Given the description of an element on the screen output the (x, y) to click on. 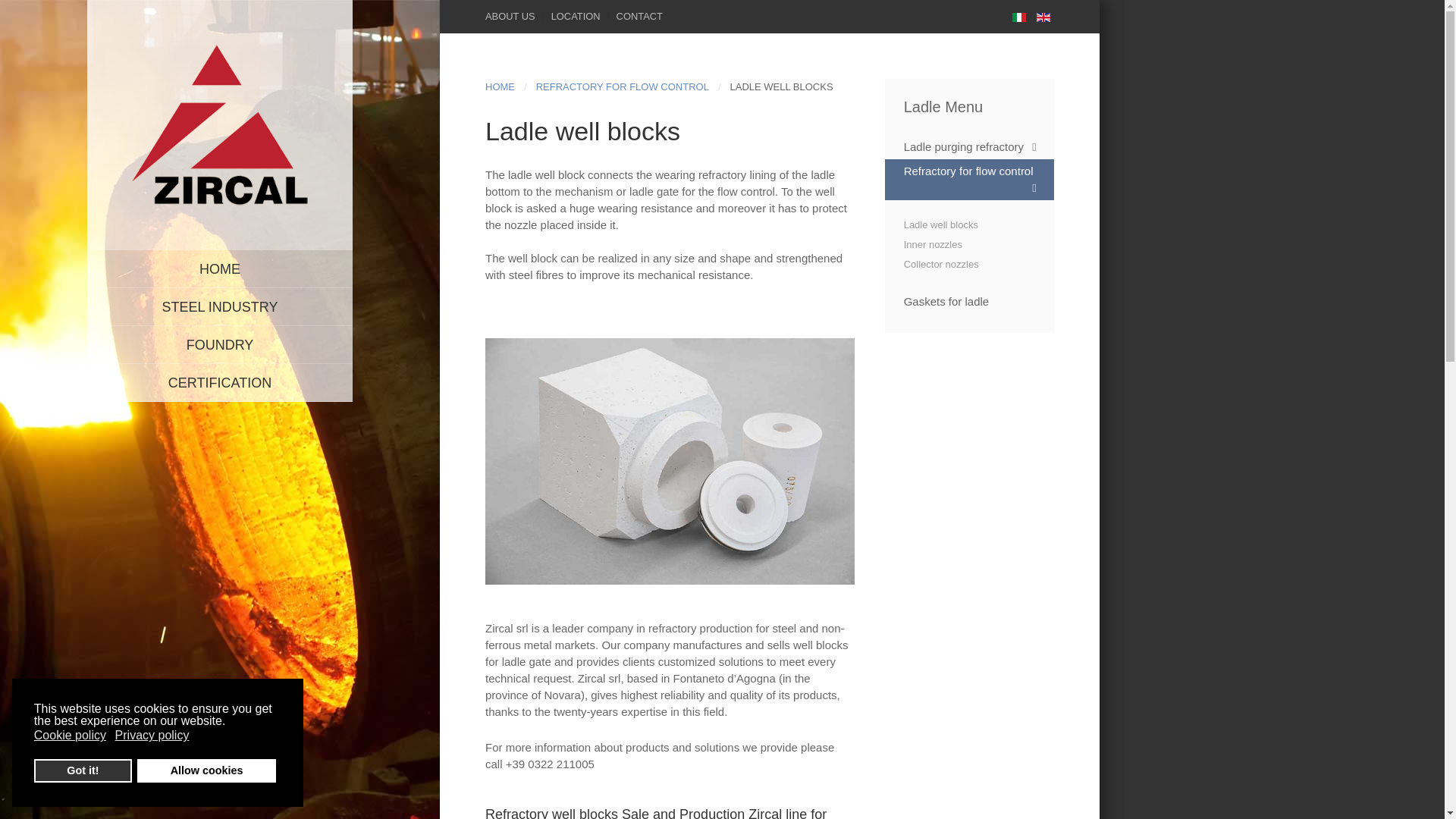
HOME (219, 269)
Privacy policy (153, 735)
Got it! (82, 770)
Allow cookies (206, 770)
FOUNDRY (219, 344)
LOCATION (575, 16)
CERTIFICATION (219, 382)
REFRACTORY FOR FLOW CONTROL (622, 86)
STEEL INDUSTRY (219, 306)
Ladle purging refractory (969, 146)
